Given the description of an element on the screen output the (x, y) to click on. 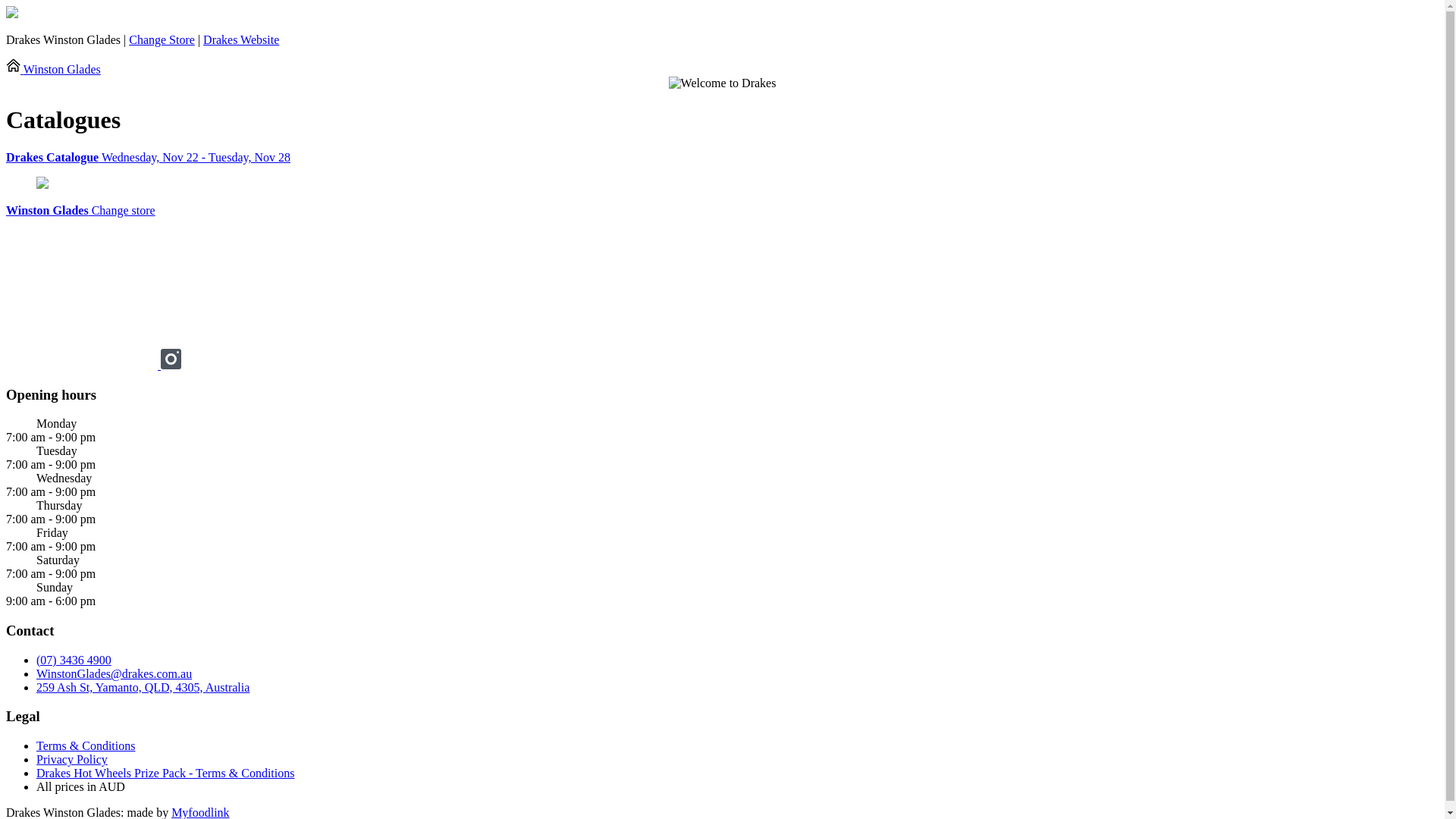
WinstonGlades@drakes.com.au Element type: text (113, 673)
(07) 3436 4900 Element type: text (73, 659)
Drakes Website Element type: text (241, 39)
259 Ash St, Yamanto, QLD, 4305, Australia Element type: text (142, 686)
Drakes Hot Wheels Prize Pack - Terms & Conditions Element type: text (165, 772)
Winston Glades Element type: text (53, 68)
Facebook Element type: hover (83, 364)
Privacy Policy Element type: text (71, 759)
Drakes Catalogue Wednesday, Nov 22 - Tuesday, Nov 28 Element type: text (722, 156)
Winston Glades Change store Element type: text (80, 209)
Change Store Element type: text (161, 39)
Terms & Conditions Element type: text (85, 745)
Instagram drakessupermarkets Element type: hover (170, 364)
